Given the description of an element on the screen output the (x, y) to click on. 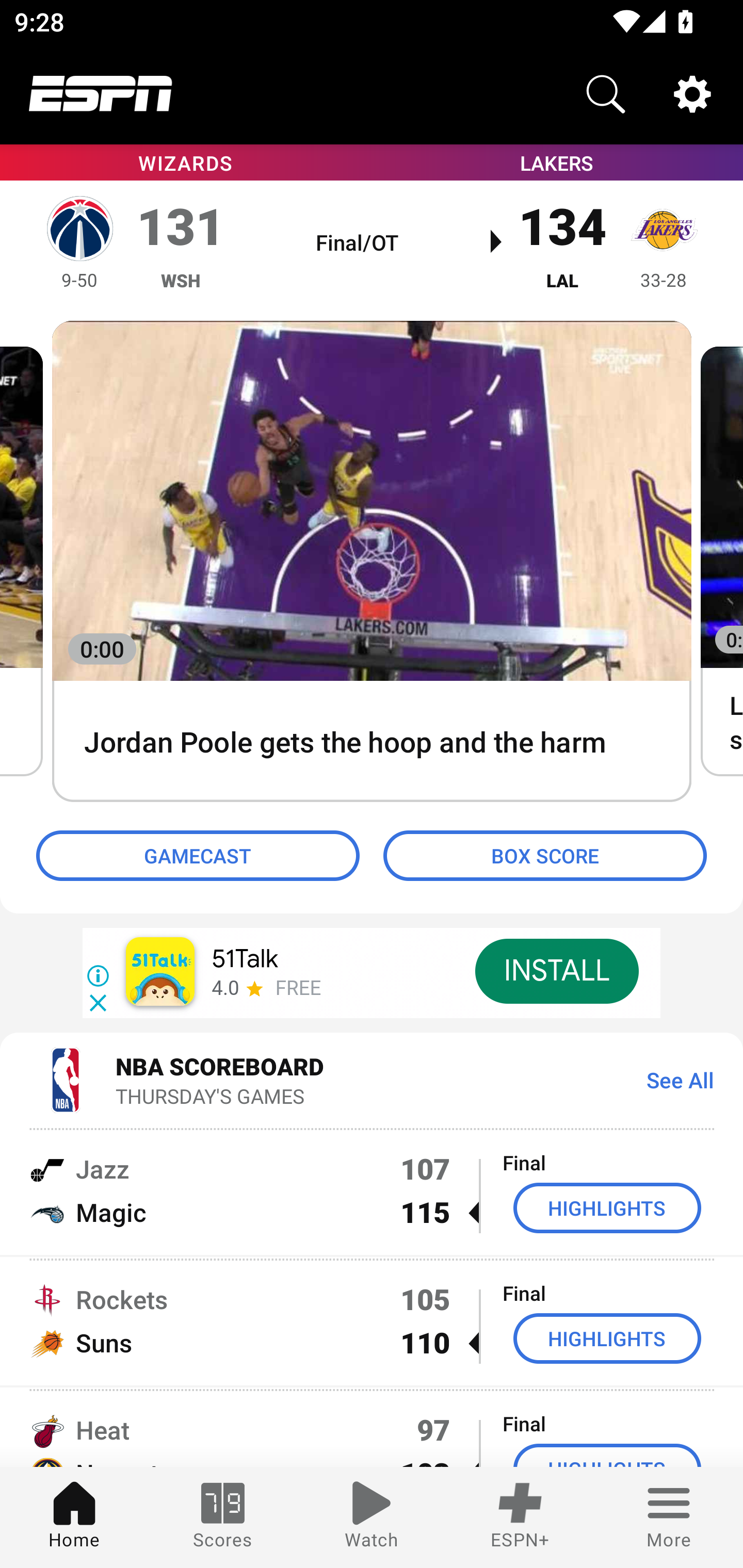
Search (605, 93)
Settings (692, 93)
0:00 Jordan Poole gets the hoop and the harm (371, 561)
GAMECAST (197, 856)
BOX SCORE (544, 856)
INSTALL (556, 971)
51Talk (244, 959)
NBA SCOREBOARD THURSDAY'S GAMES See All (371, 1079)
Jazz 107 Final Magic 115  HIGHLIGHTS (371, 1189)
HIGHLIGHTS (607, 1208)
Rockets 105 Final Suns 110  HIGHLIGHTS (371, 1321)
HIGHLIGHTS (607, 1338)
Heat 97 Final Nuggets 103  HIGHLIGHTS (371, 1427)
Scores (222, 1517)
Watch (371, 1517)
ESPN+ (519, 1517)
More (668, 1517)
